Given the description of an element on the screen output the (x, y) to click on. 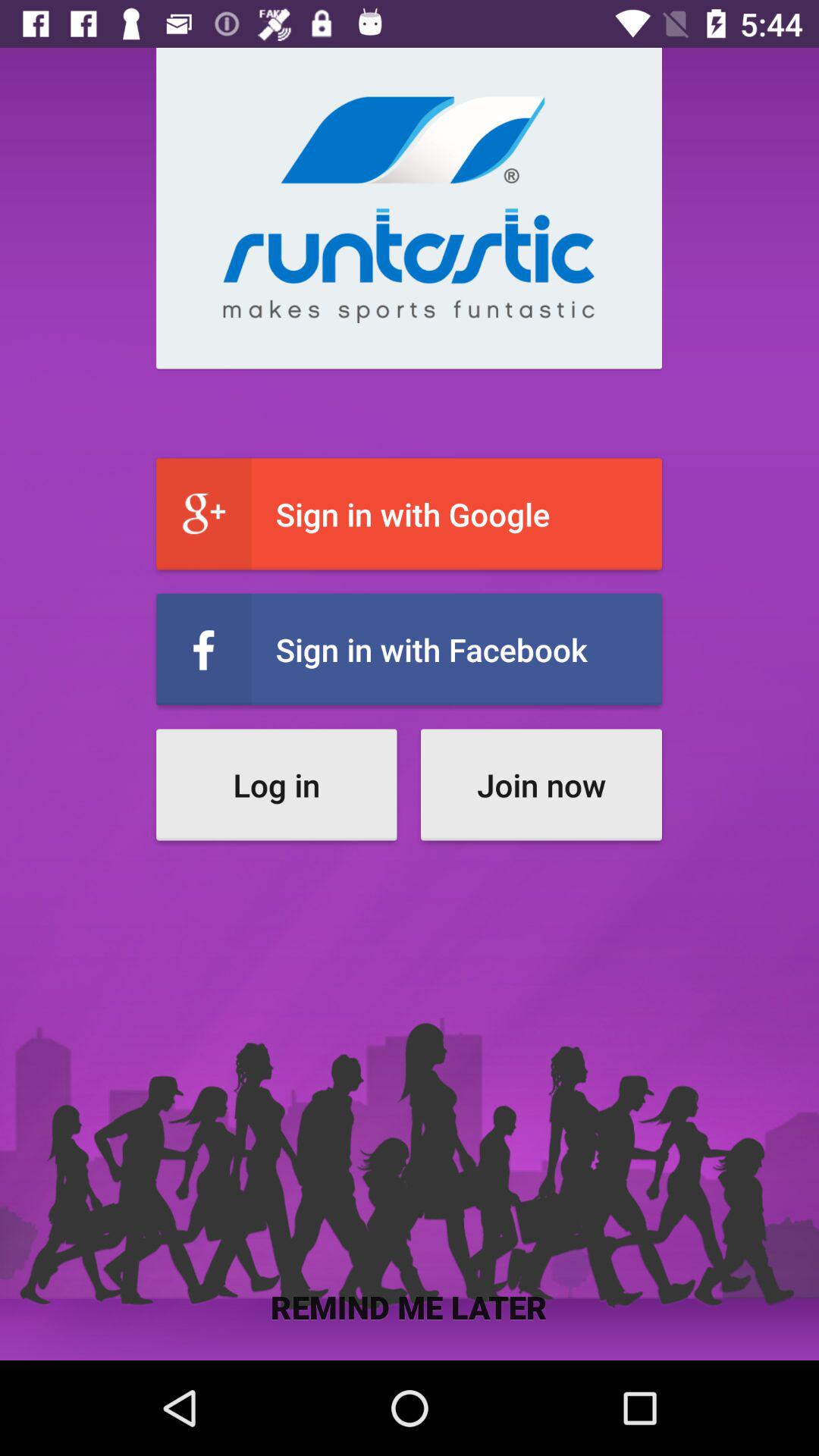
open the join now button (541, 784)
